Given the description of an element on the screen output the (x, y) to click on. 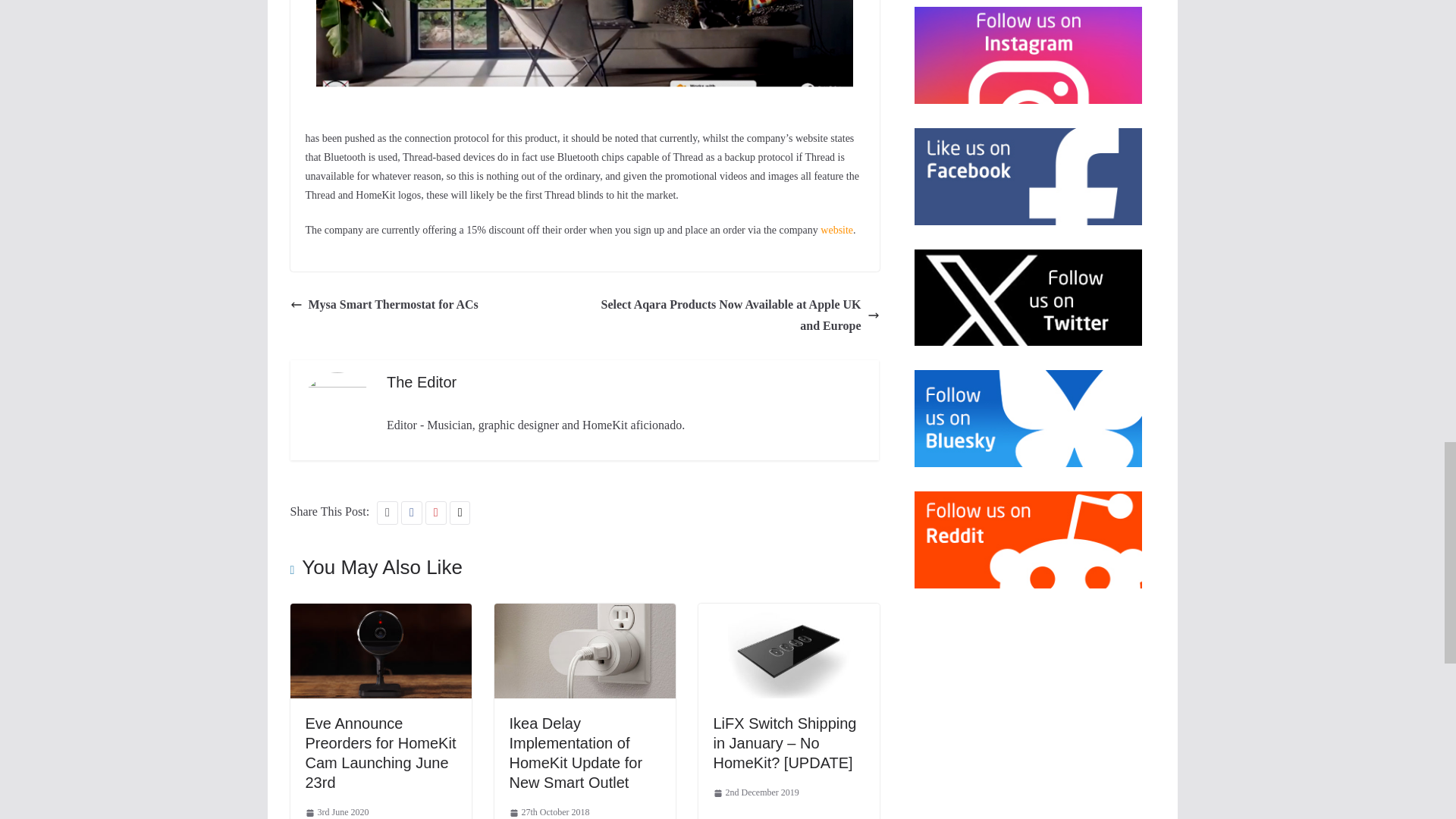
8:33 pm (336, 811)
Eve Announce Preorders for HomeKit Cam Launching June 23rd (379, 752)
11:09 am (755, 792)
Eve Announce Preorders for HomeKit Cam Launching June 23rd (379, 613)
1:56 pm (549, 811)
